Given the description of an element on the screen output the (x, y) to click on. 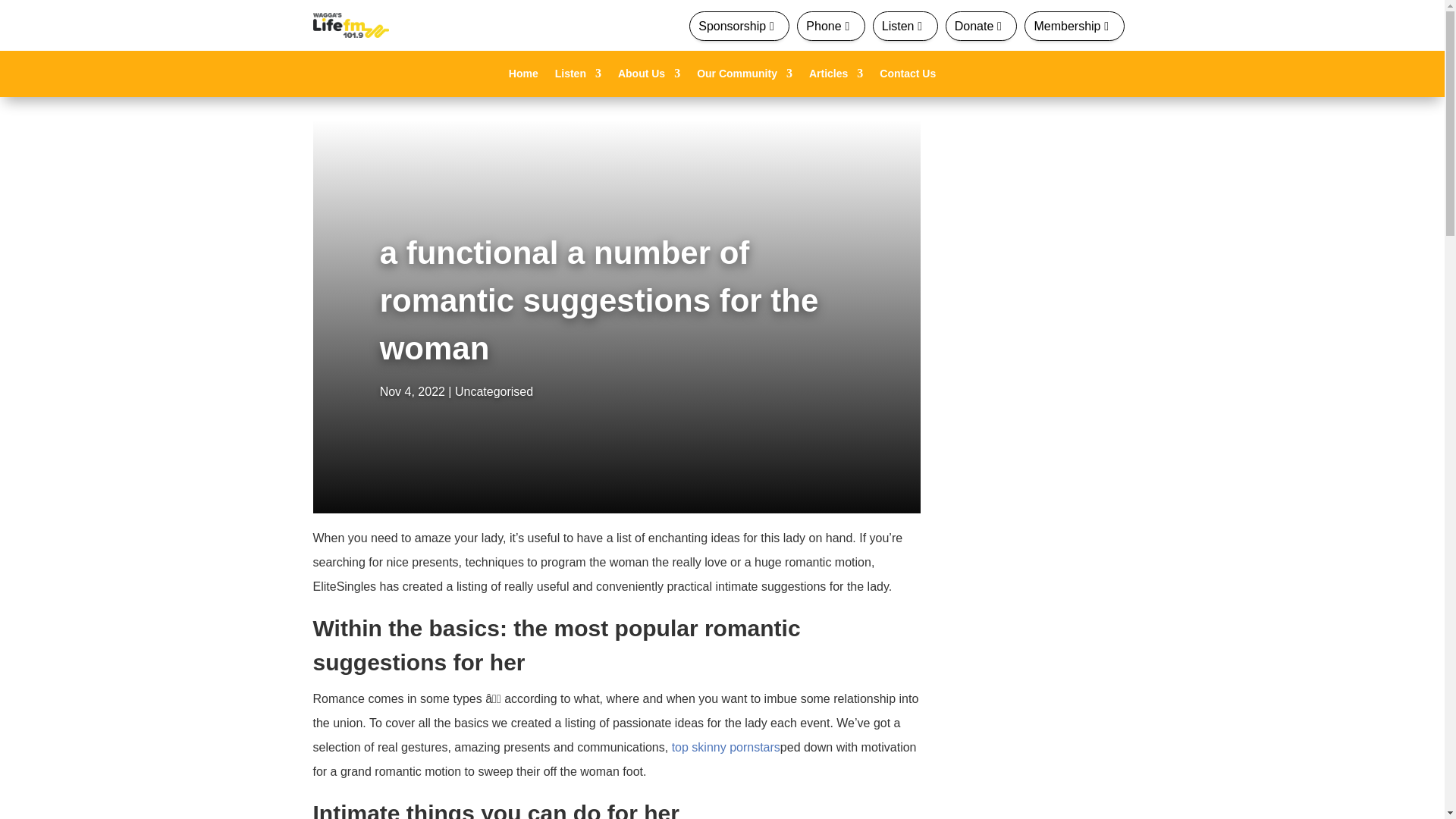
Phone (830, 25)
Waggas-life-fm-logo (350, 25)
Membership (1074, 25)
Donate (980, 25)
Contact Us (907, 76)
Our Community (744, 76)
top skinny pornstars (725, 747)
Articles (836, 76)
Uncategorised (493, 391)
Sponsorship (738, 25)
